Given the description of an element on the screen output the (x, y) to click on. 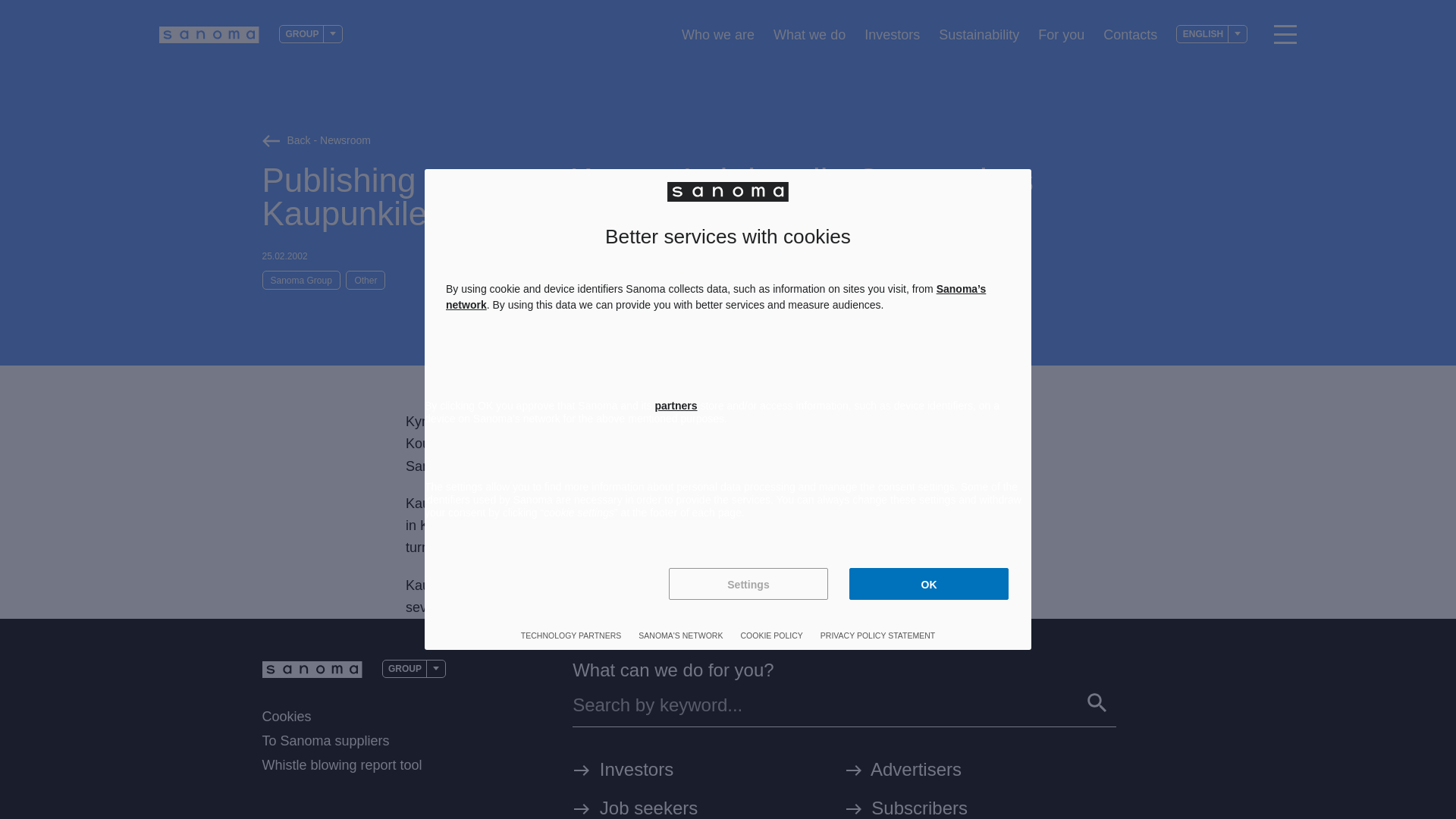
For you (1061, 34)
